Given the description of an element on the screen output the (x, y) to click on. 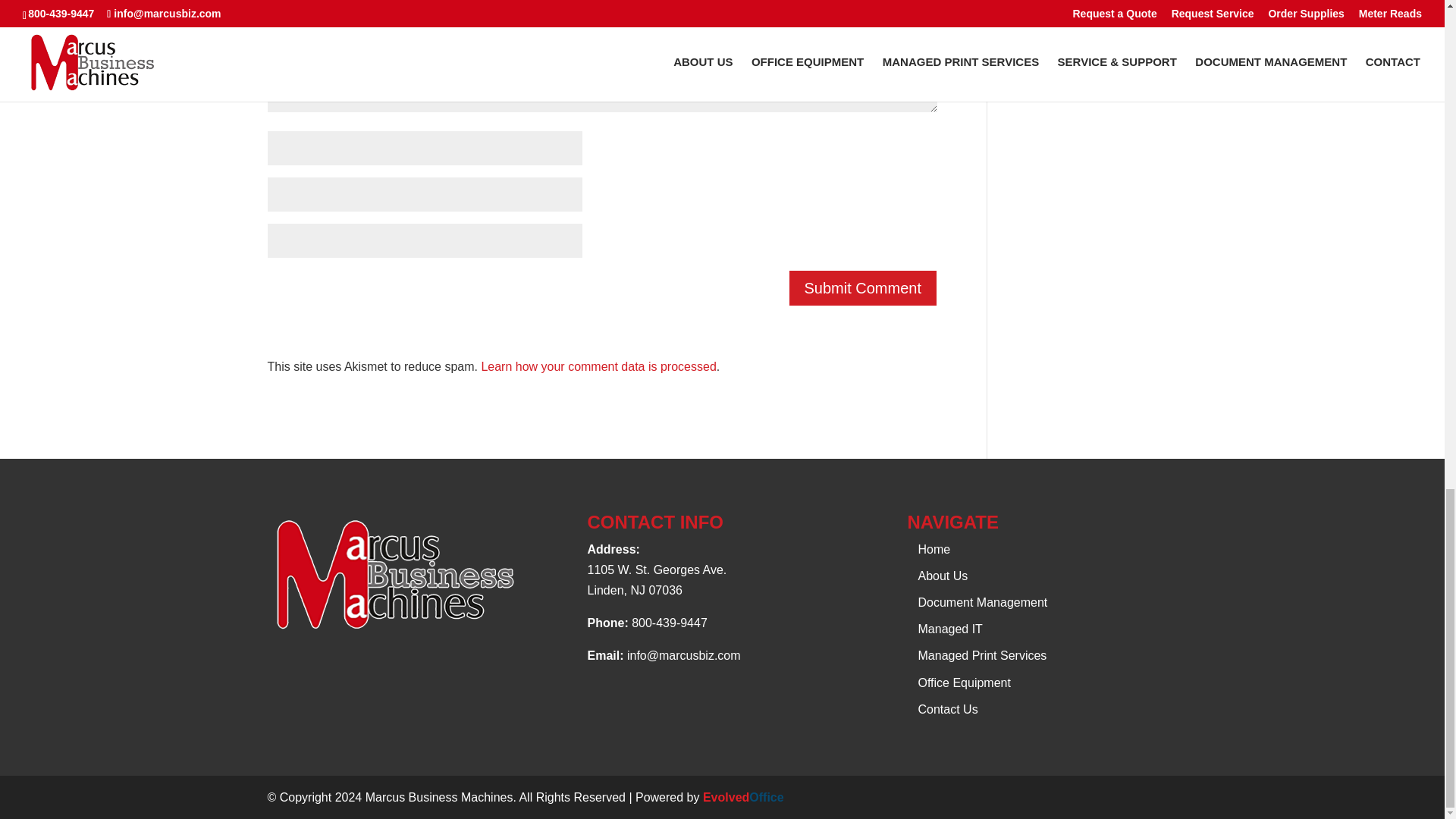
Submit Comment (863, 288)
Submit Comment (863, 288)
Learn how your comment data is processed (598, 365)
